Given the description of an element on the screen output the (x, y) to click on. 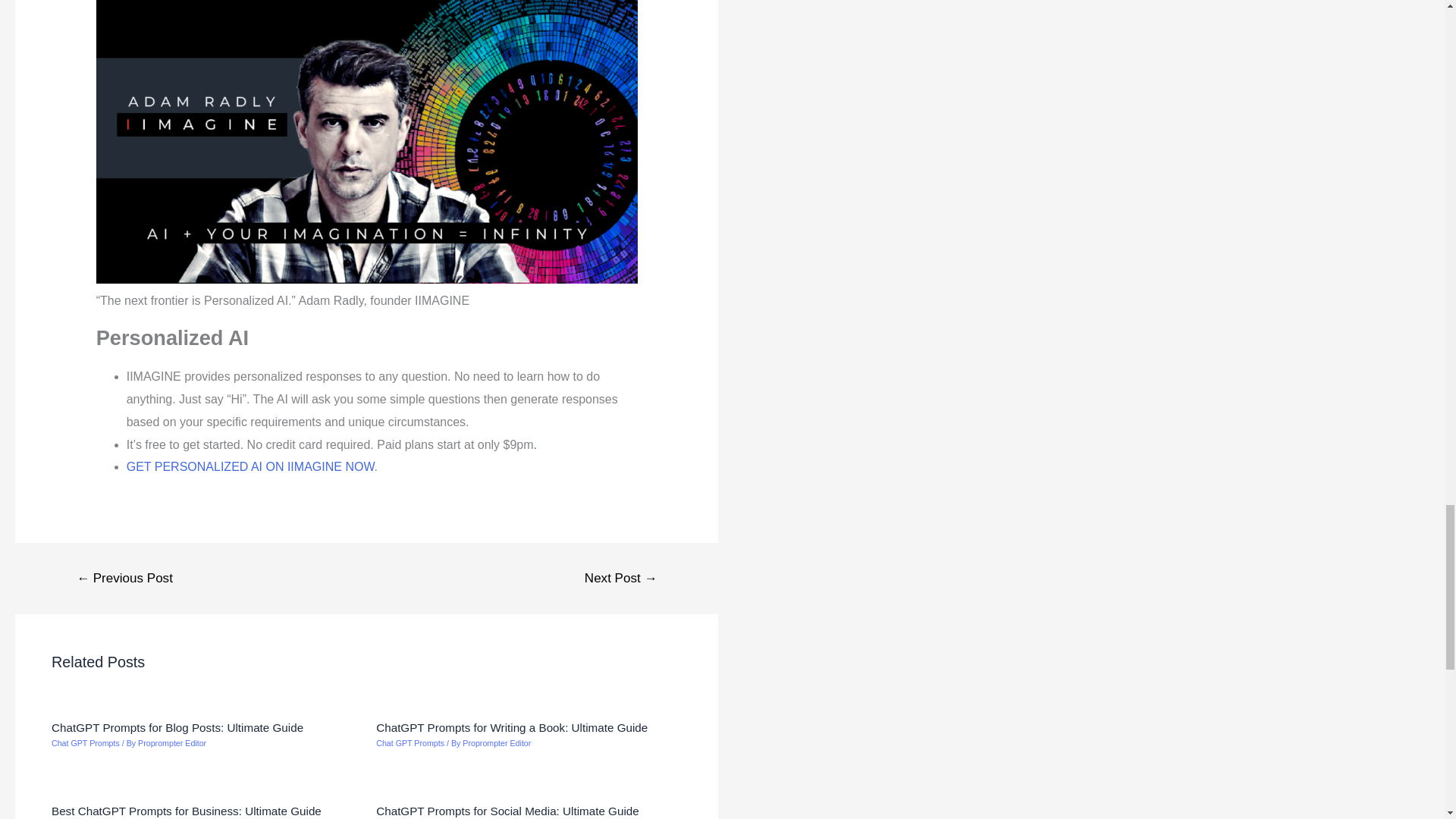
Chat GPT Prompts (84, 742)
ChatGPT Prompts for Blog Posts: Ultimate Guide (176, 727)
View all posts by Proprompter Editor (497, 742)
GET PERSONALIZED AI ON IIMAGINE NOW (250, 466)
Chat GPT Prompts (409, 742)
Proprompter Editor (497, 742)
Proprompter Editor (172, 742)
View all posts by Proprompter Editor (172, 742)
ChatGPT Prompts for Writing a Book: Ultimate Guide (511, 727)
Best ChatGPT Prompts for Business: Ultimate Guide (185, 810)
